Given the description of an element on the screen output the (x, y) to click on. 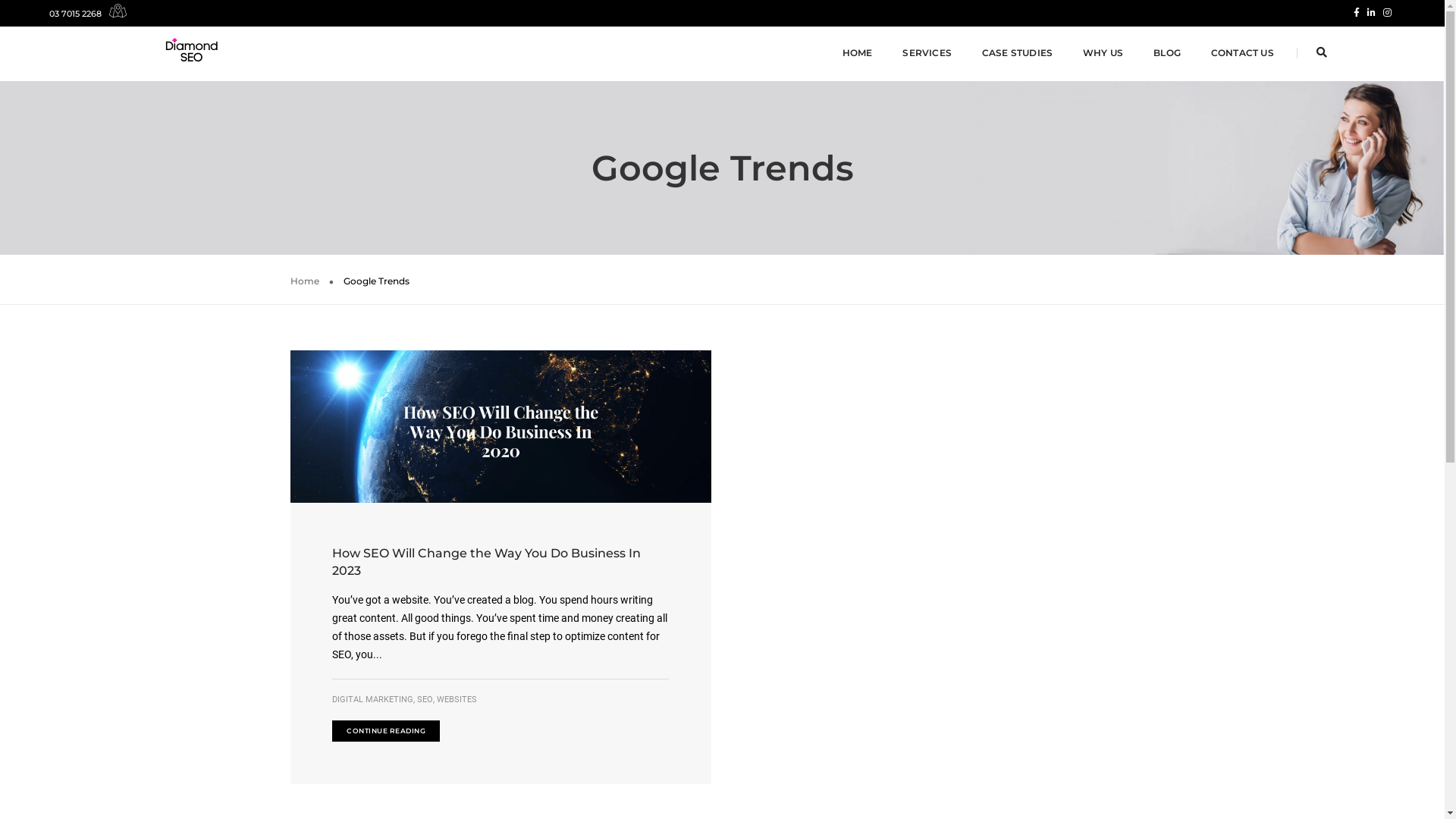
CONTINUE READING Element type: text (385, 730)
CASE STUDIES Element type: text (1017, 52)
WHY US Element type: text (1102, 52)
SERVICES Element type: text (926, 52)
How SEO Will Change the Way You Do Business In 2023 Element type: text (500, 561)
Diamond SEO Element type: hover (195, 52)
Location Element type: hover (113, 13)
SEO Element type: text (425, 699)
03 7015 2268 Element type: text (75, 13)
CONTACT US Element type: text (1242, 52)
Home Element type: text (303, 280)
HOME Element type: text (857, 52)
Linked In Element type: hover (1371, 11)
BLOG Element type: text (1166, 52)
DIGITAL MARKETING Element type: text (372, 699)
WEBSITES Element type: text (456, 699)
